Given the description of an element on the screen output the (x, y) to click on. 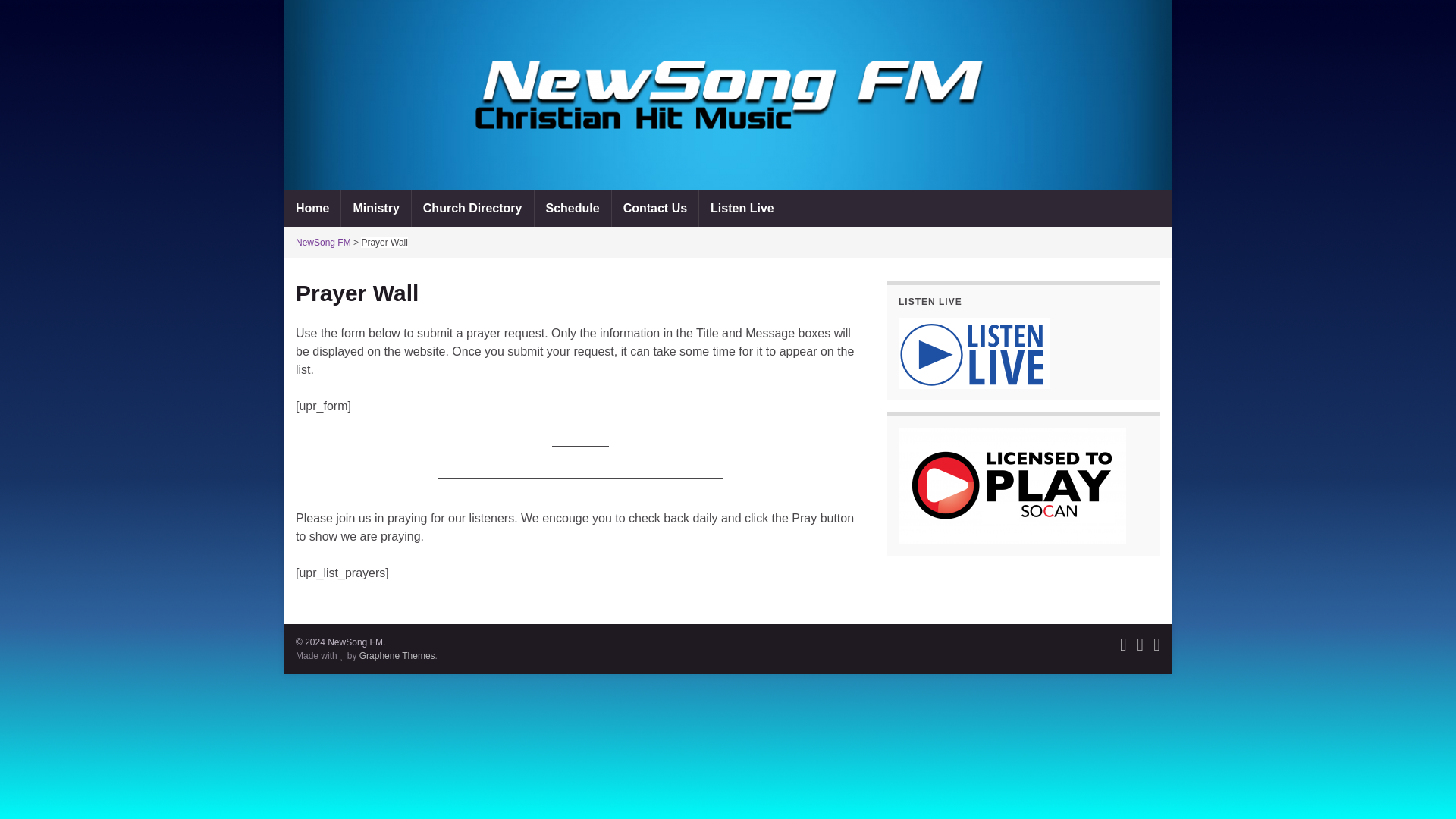
Home (311, 208)
Schedule (572, 208)
Contact Us (654, 208)
Graphene Themes (397, 655)
Listen Live (742, 208)
Ministry (375, 208)
Go to NewSong FM. (322, 242)
Church Directory (473, 208)
NewSong FM (322, 242)
